Given the description of an element on the screen output the (x, y) to click on. 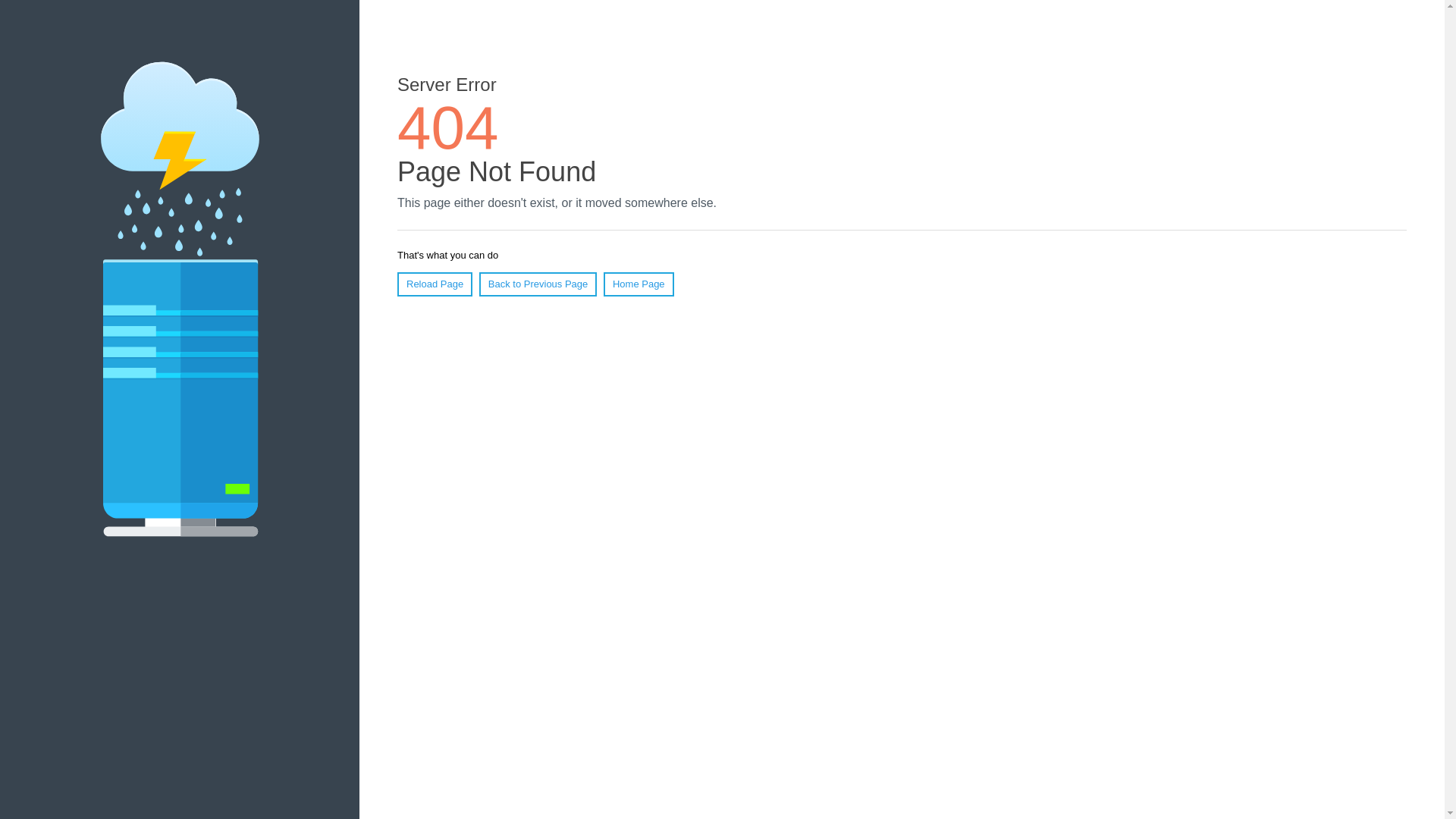
Home Page Element type: text (638, 284)
Reload Page Element type: text (434, 284)
Back to Previous Page Element type: text (538, 284)
